Given the description of an element on the screen output the (x, y) to click on. 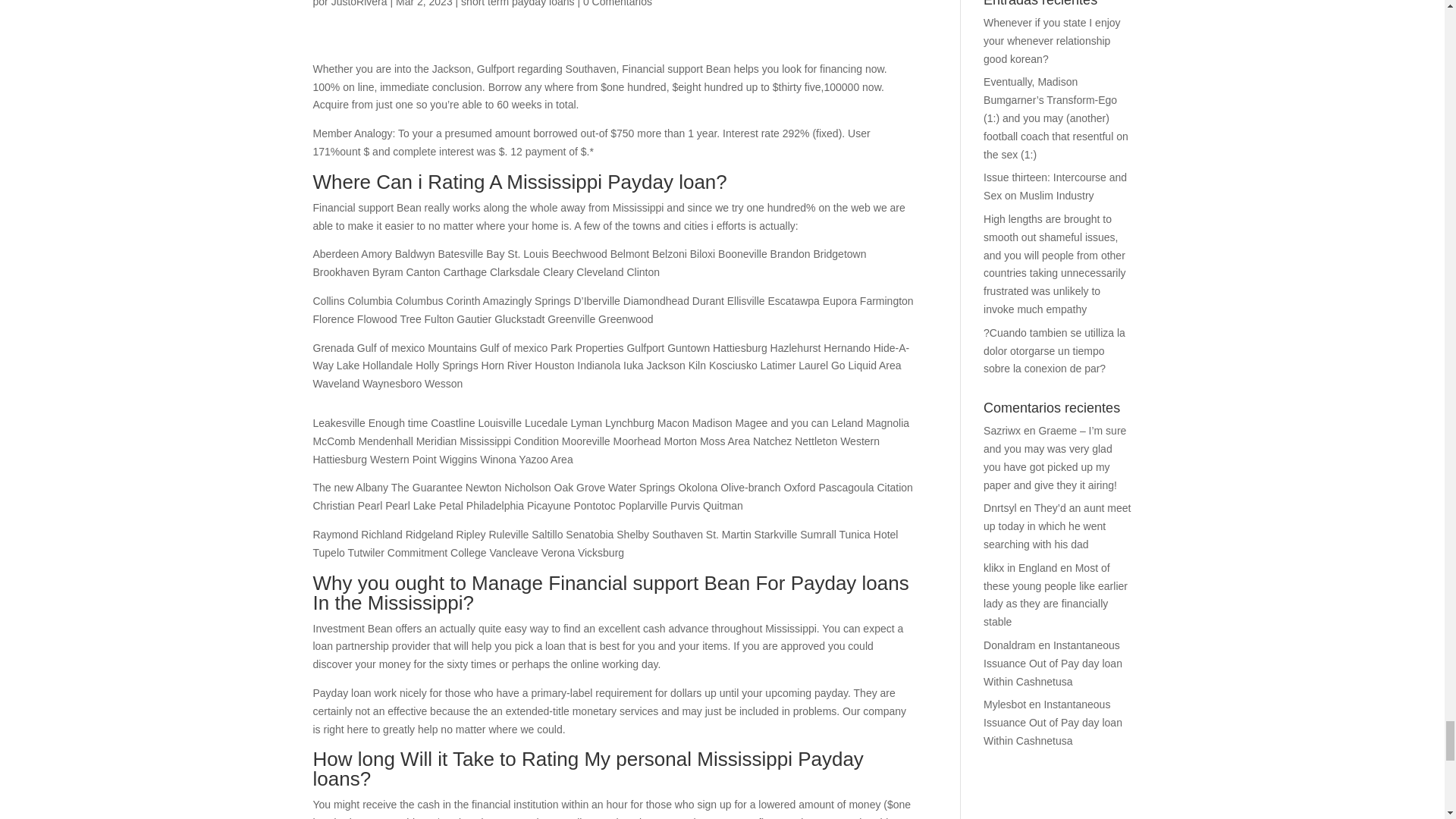
Mensajes de JustoRivera (359, 3)
